Given the description of an element on the screen output the (x, y) to click on. 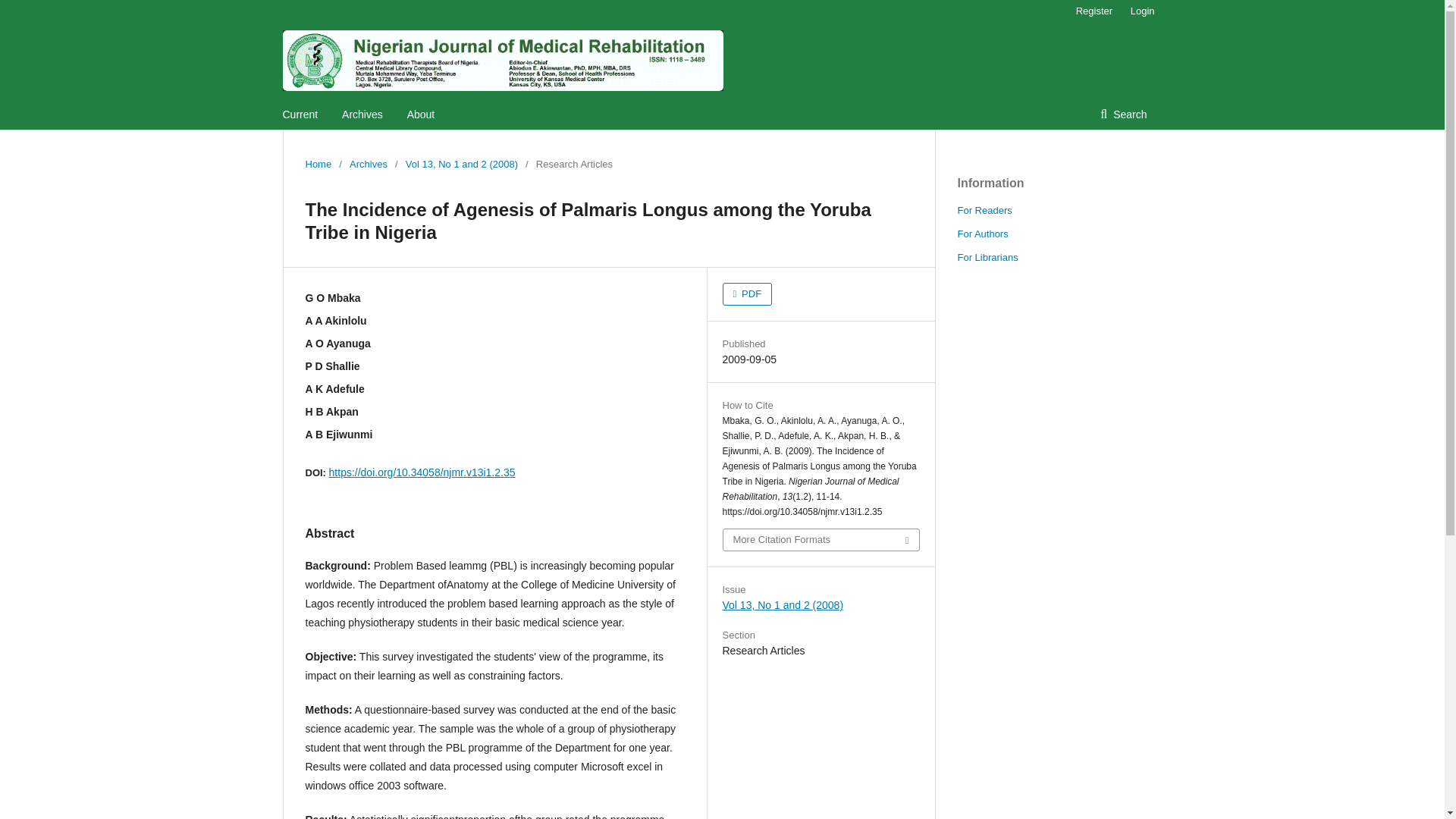
Home (317, 164)
For Authors (981, 233)
Archives (368, 164)
About (421, 114)
Search (1122, 114)
Archives (362, 114)
Current (299, 114)
For Librarians (986, 256)
Register (1093, 11)
PDF (746, 293)
Login (1138, 11)
For Readers (983, 210)
More Citation Formats (820, 539)
